Given the description of an element on the screen output the (x, y) to click on. 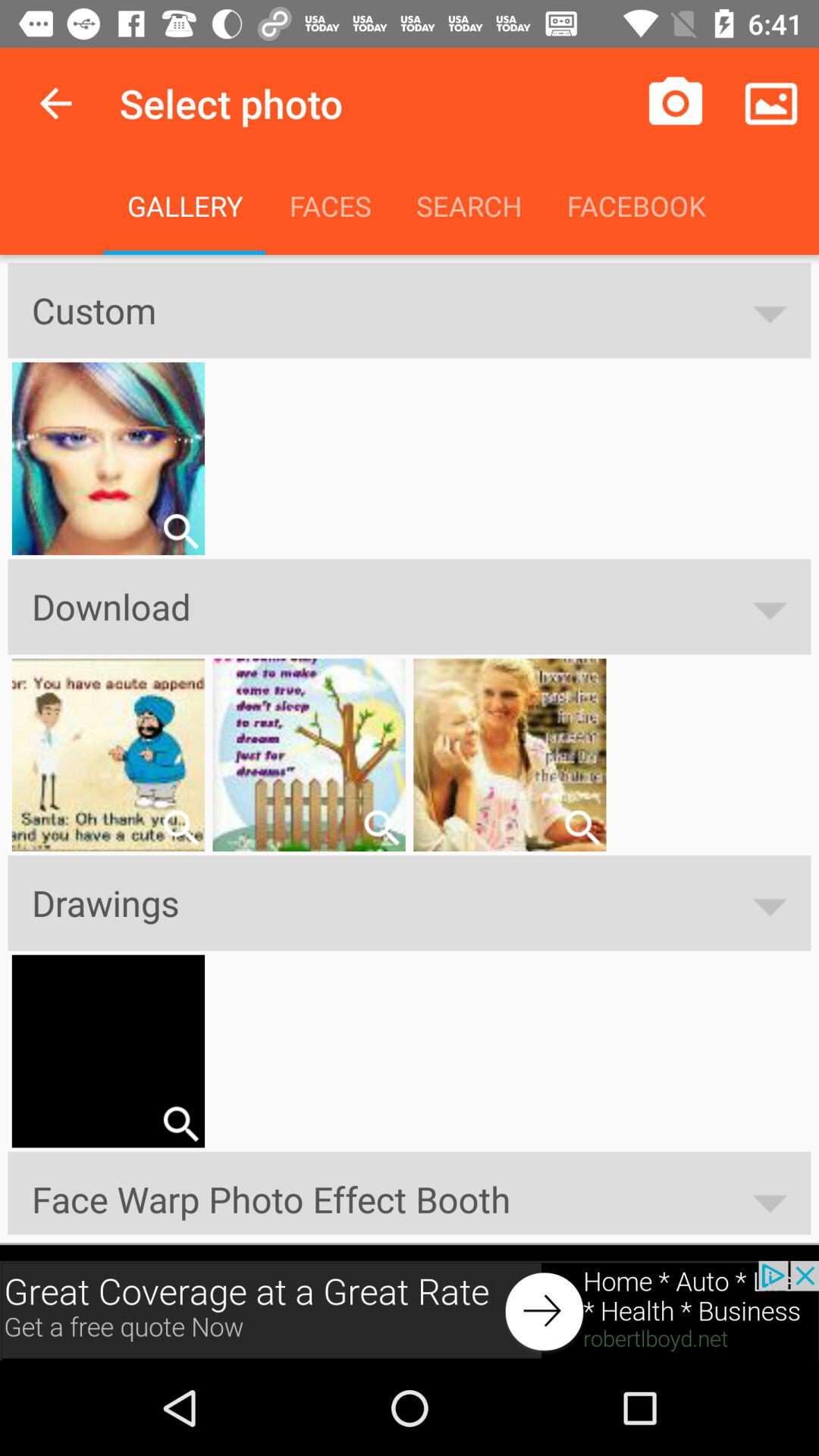
zoom in (180, 531)
